Given the description of an element on the screen output the (x, y) to click on. 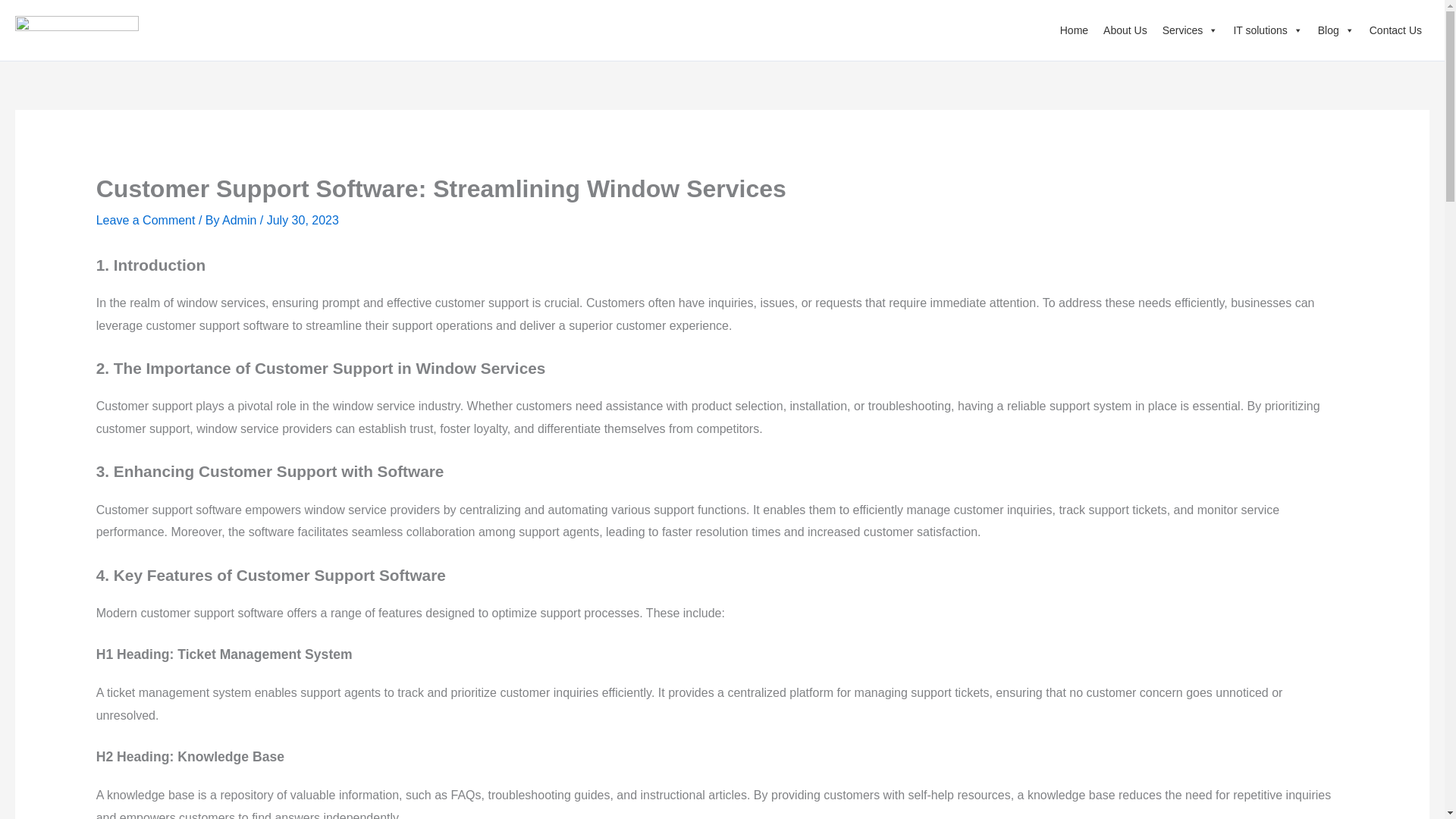
View all posts by Admin (241, 219)
Home (1074, 30)
IT solutions (1266, 30)
About Us (1125, 30)
Blog (1335, 30)
Services (1189, 30)
Contact Us (1395, 30)
